Given the description of an element on the screen output the (x, y) to click on. 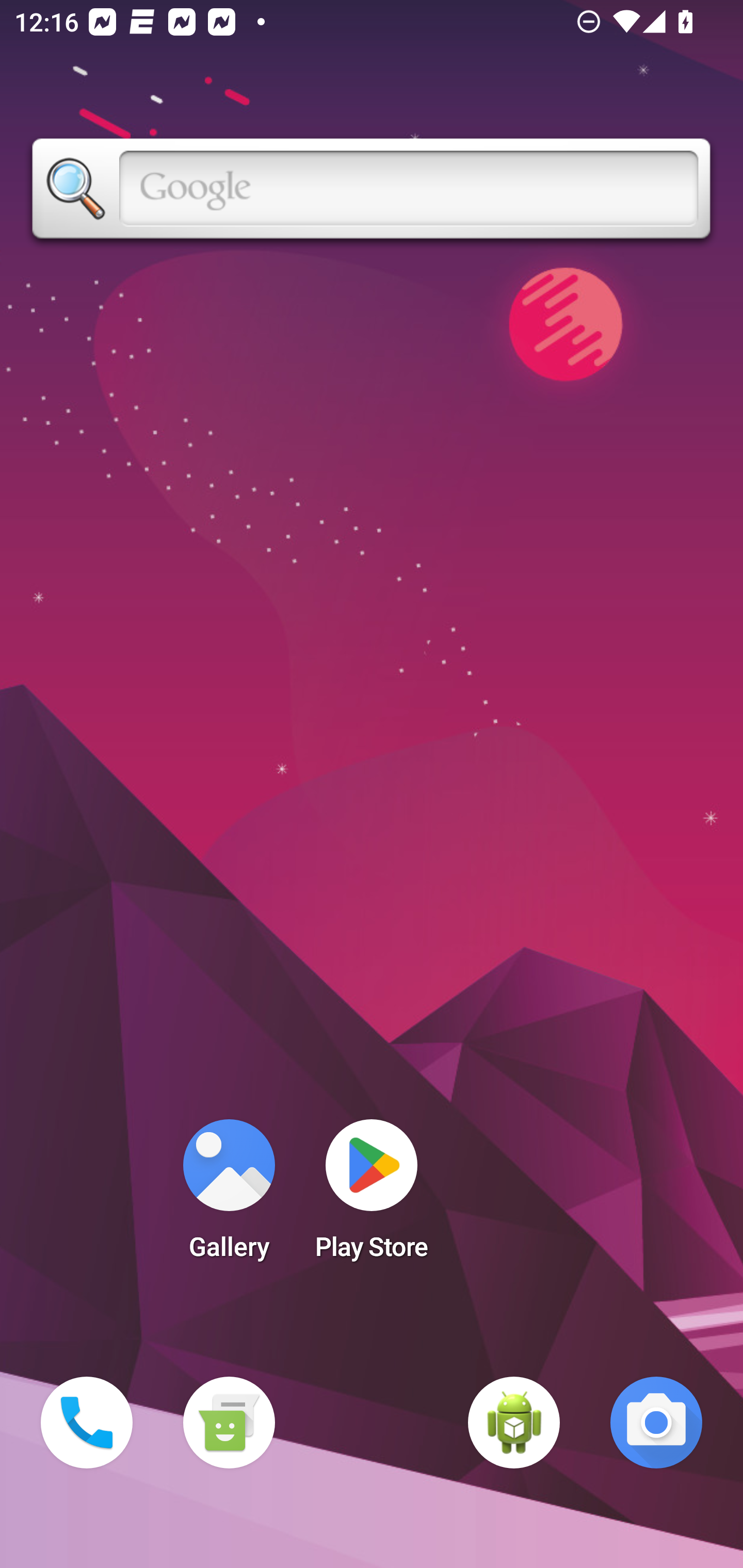
Gallery (228, 1195)
Play Store (371, 1195)
Phone (86, 1422)
Messaging (228, 1422)
WebView Browser Tester (513, 1422)
Camera (656, 1422)
